Given the description of an element on the screen output the (x, y) to click on. 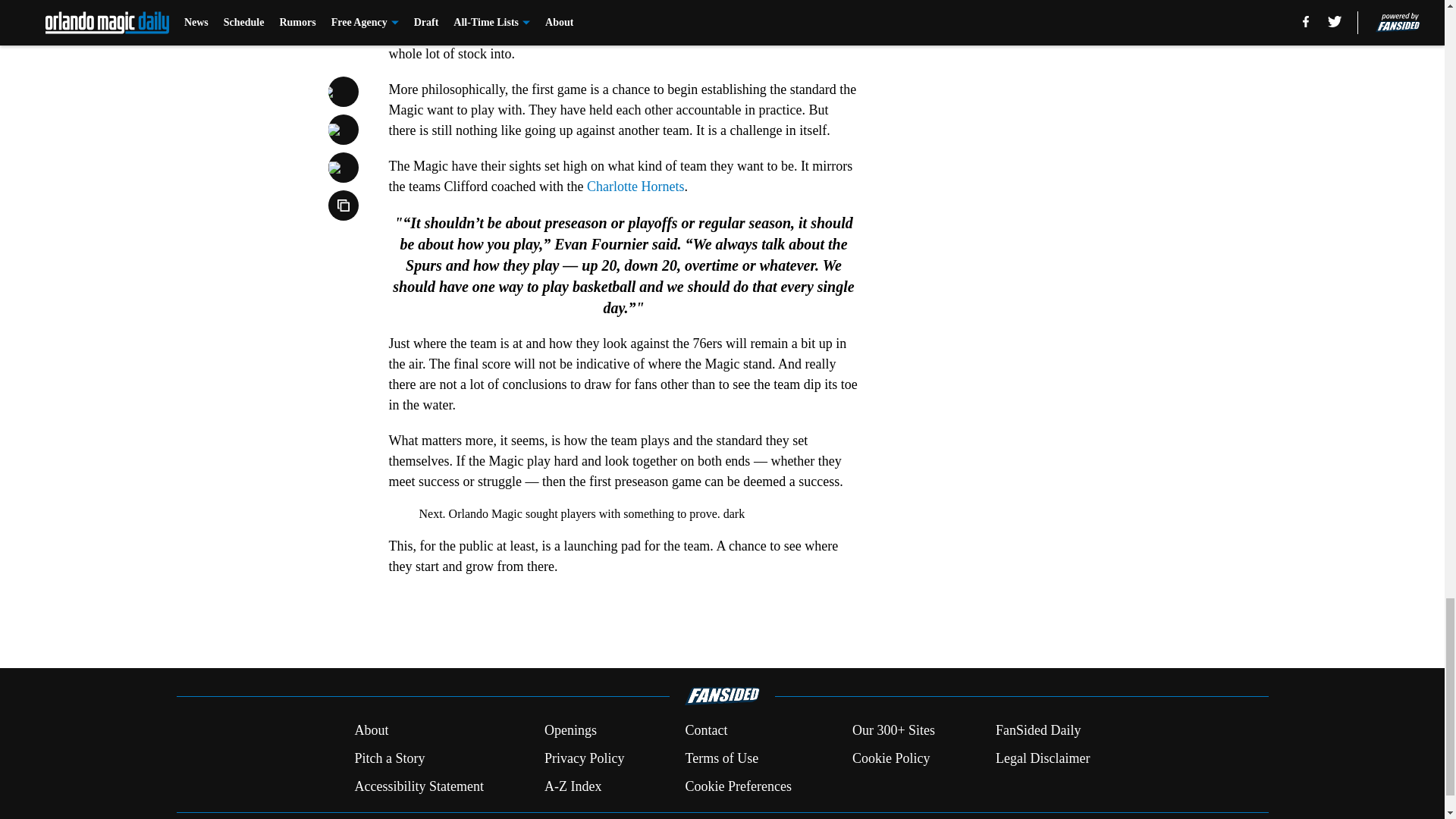
Openings (570, 730)
Terms of Use (721, 758)
FanSided Daily (1038, 730)
Contact (705, 730)
Pitch a Story (389, 758)
Privacy Policy (584, 758)
Charlotte Hornets (635, 186)
Cookie Policy (890, 758)
About (370, 730)
Legal Disclaimer (1042, 758)
